Given the description of an element on the screen output the (x, y) to click on. 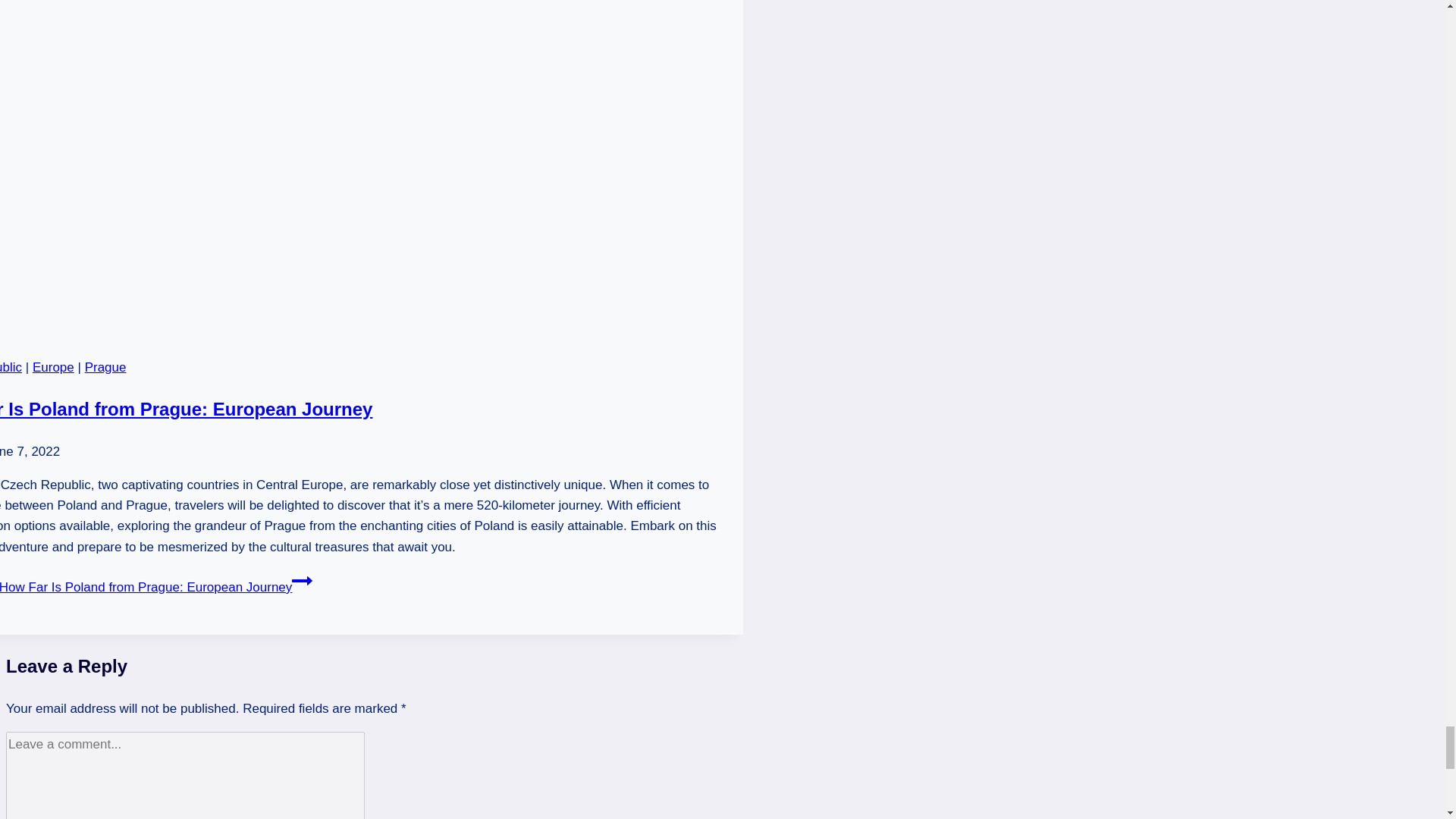
Continue (302, 580)
